Given the description of an element on the screen output the (x, y) to click on. 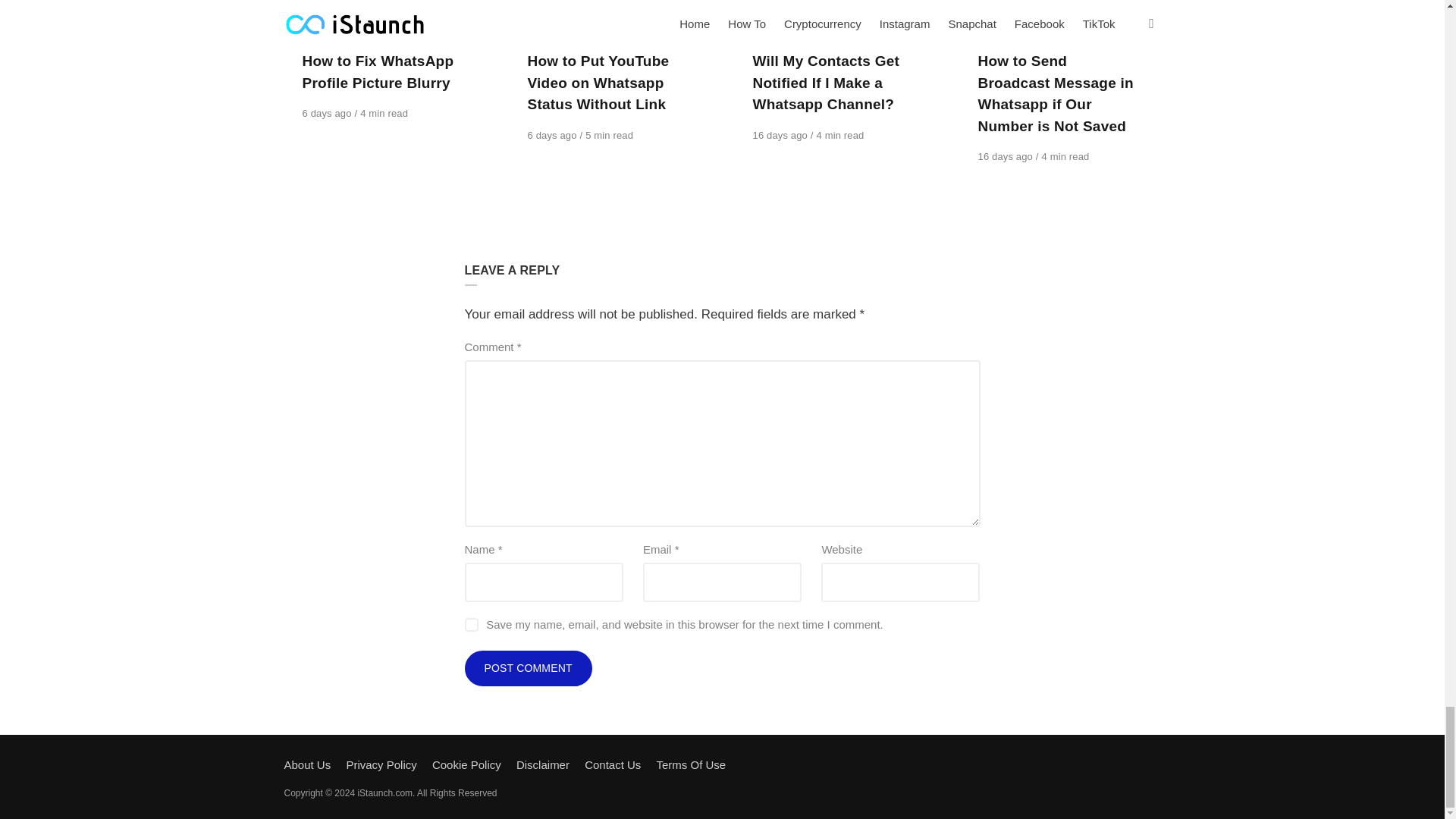
yes (470, 624)
August 14, 2024 (780, 134)
August 14, 2024 (1006, 156)
August 24, 2024 (553, 134)
Whatsapp (328, 39)
August 24, 2024 (327, 112)
Post Comment (527, 668)
